Given the description of an element on the screen output the (x, y) to click on. 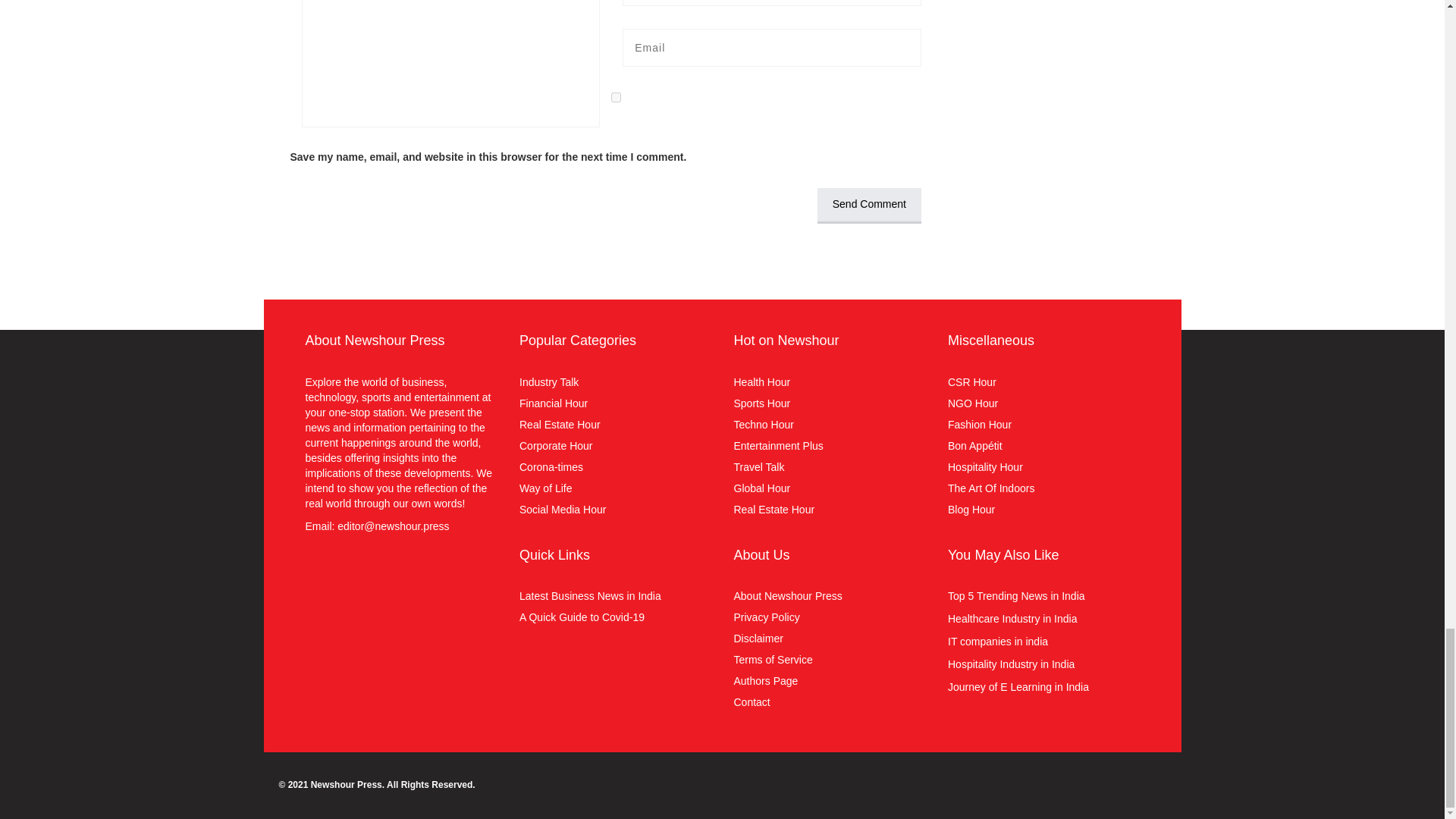
yes (616, 97)
Send Comment (868, 205)
